Given the description of an element on the screen output the (x, y) to click on. 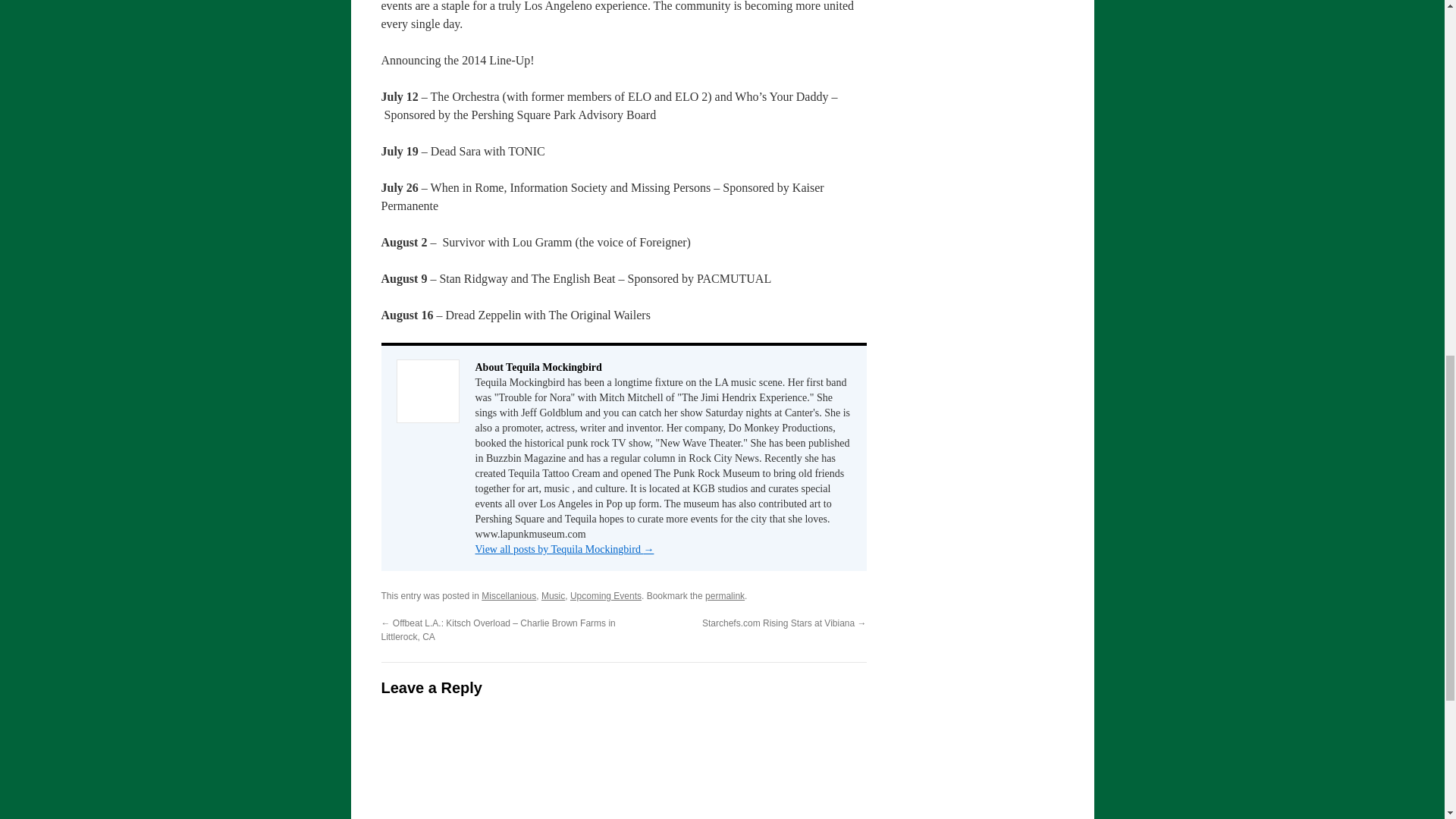
Miscellanious (508, 595)
Comment Form (623, 766)
permalink (724, 595)
Music (552, 595)
Upcoming Events (606, 595)
Permalink to Pershing Squared All Summer Long! (724, 595)
